Given the description of an element on the screen output the (x, y) to click on. 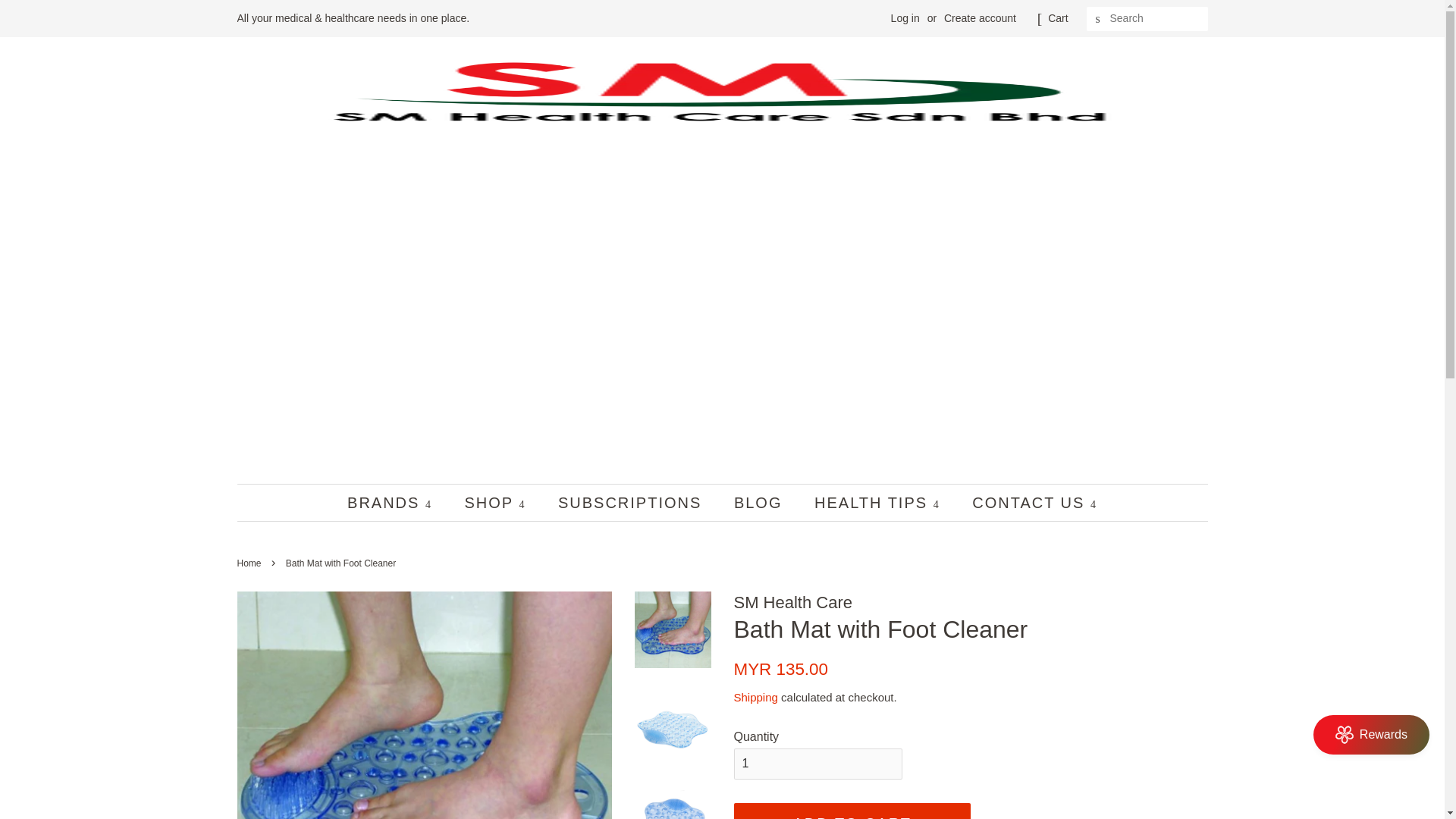
1 (817, 763)
Log in (905, 18)
Back to the frontpage (249, 562)
SEARCH (1097, 18)
Cart (1057, 18)
Create account (979, 18)
